Given the description of an element on the screen output the (x, y) to click on. 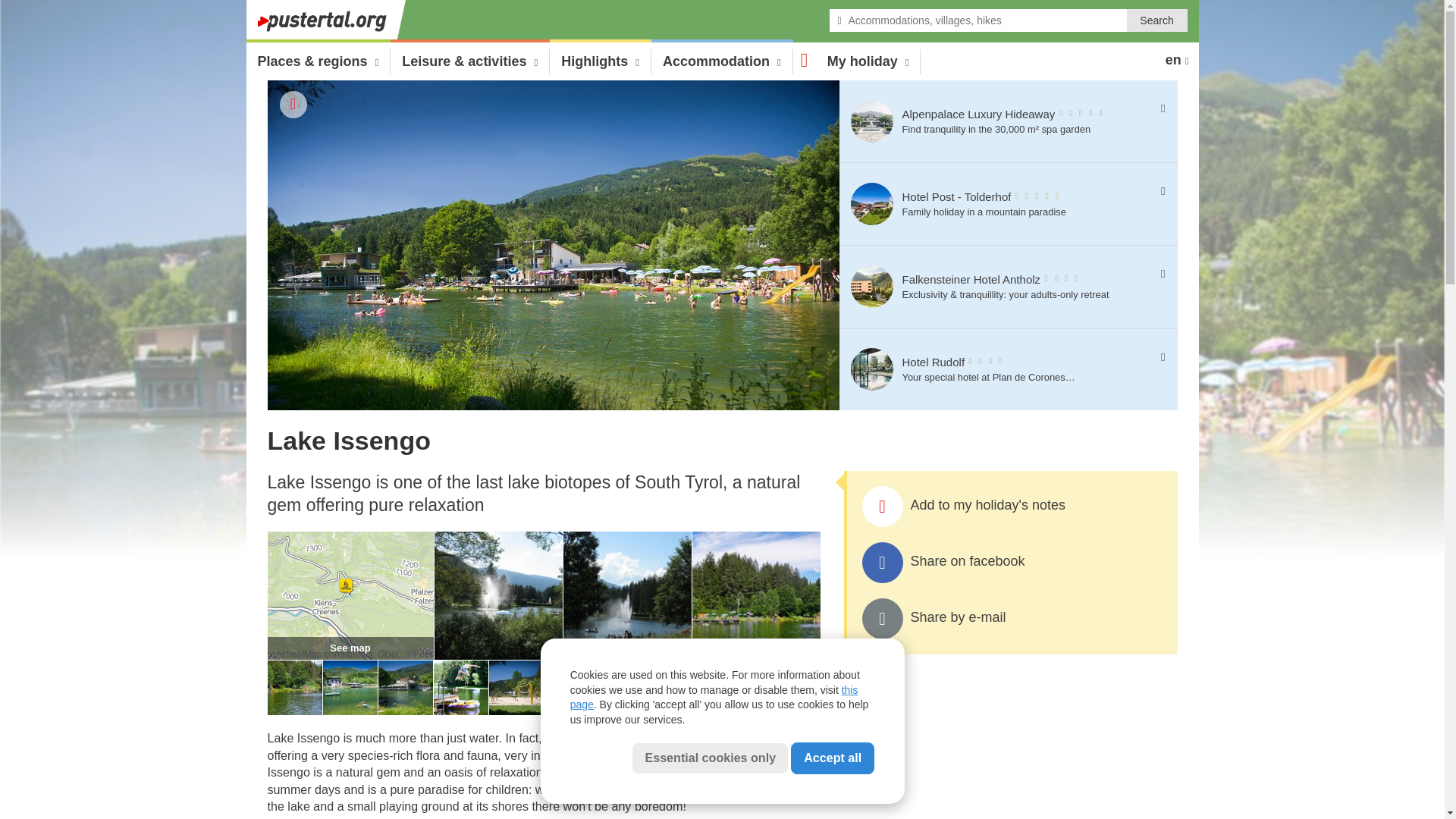
Lake Issengo (497, 655)
Lake Issengo (460, 711)
Lake Issengo (515, 711)
Share on facebook (1011, 562)
Lake Issengo (404, 711)
Lake Issengo (755, 655)
Add to my holiday's notes (1011, 506)
See map (349, 655)
Lake Issengo (626, 655)
Lake Issengo (999, 203)
Share by e-mail (293, 711)
Lake Issengo (1011, 618)
